Given the description of an element on the screen output the (x, y) to click on. 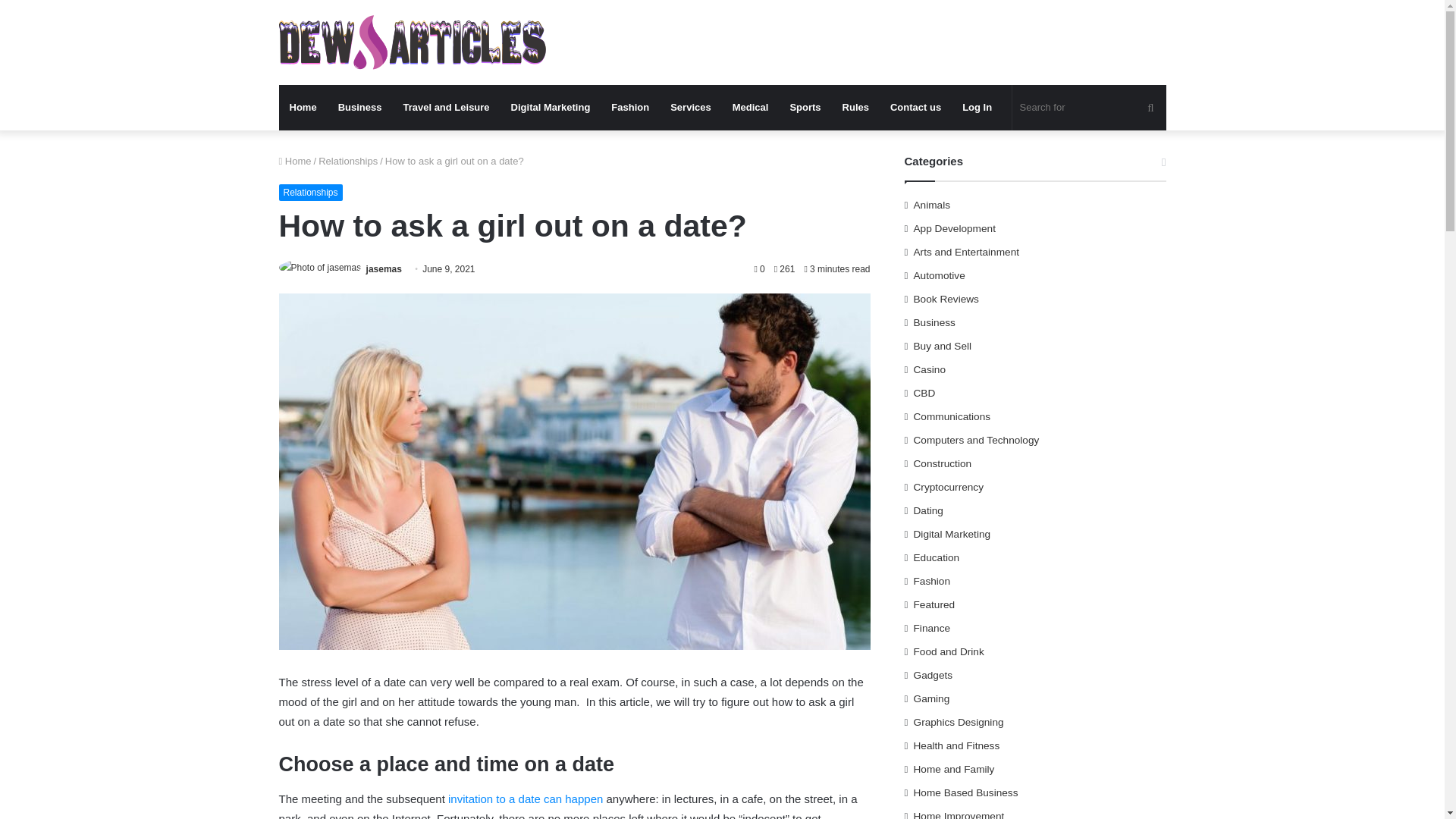
jasemas (383, 268)
Rules (855, 107)
Search for (1088, 107)
Business (360, 107)
Sports (804, 107)
Fashion (629, 107)
Contact us (915, 107)
Log In (977, 107)
Medical (750, 107)
invitation to a date can happen (525, 798)
